Given the description of an element on the screen output the (x, y) to click on. 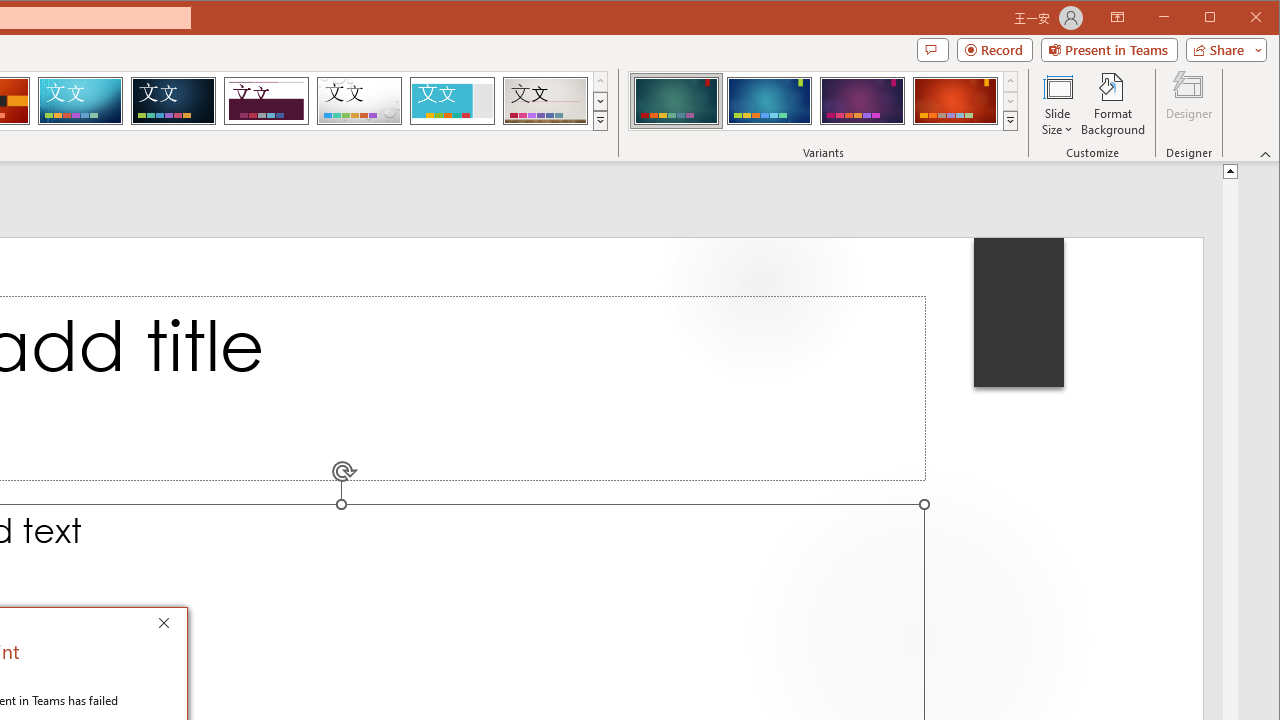
Themes (600, 120)
Ion Variant 4 (955, 100)
Frame (452, 100)
Slide Size (1057, 104)
AutomationID: ThemeVariantsGallery (824, 101)
Ion Variant 3 (862, 100)
Format Background (1113, 104)
Class: NetUIImage (1011, 120)
Line up (1230, 170)
